Given the description of an element on the screen output the (x, y) to click on. 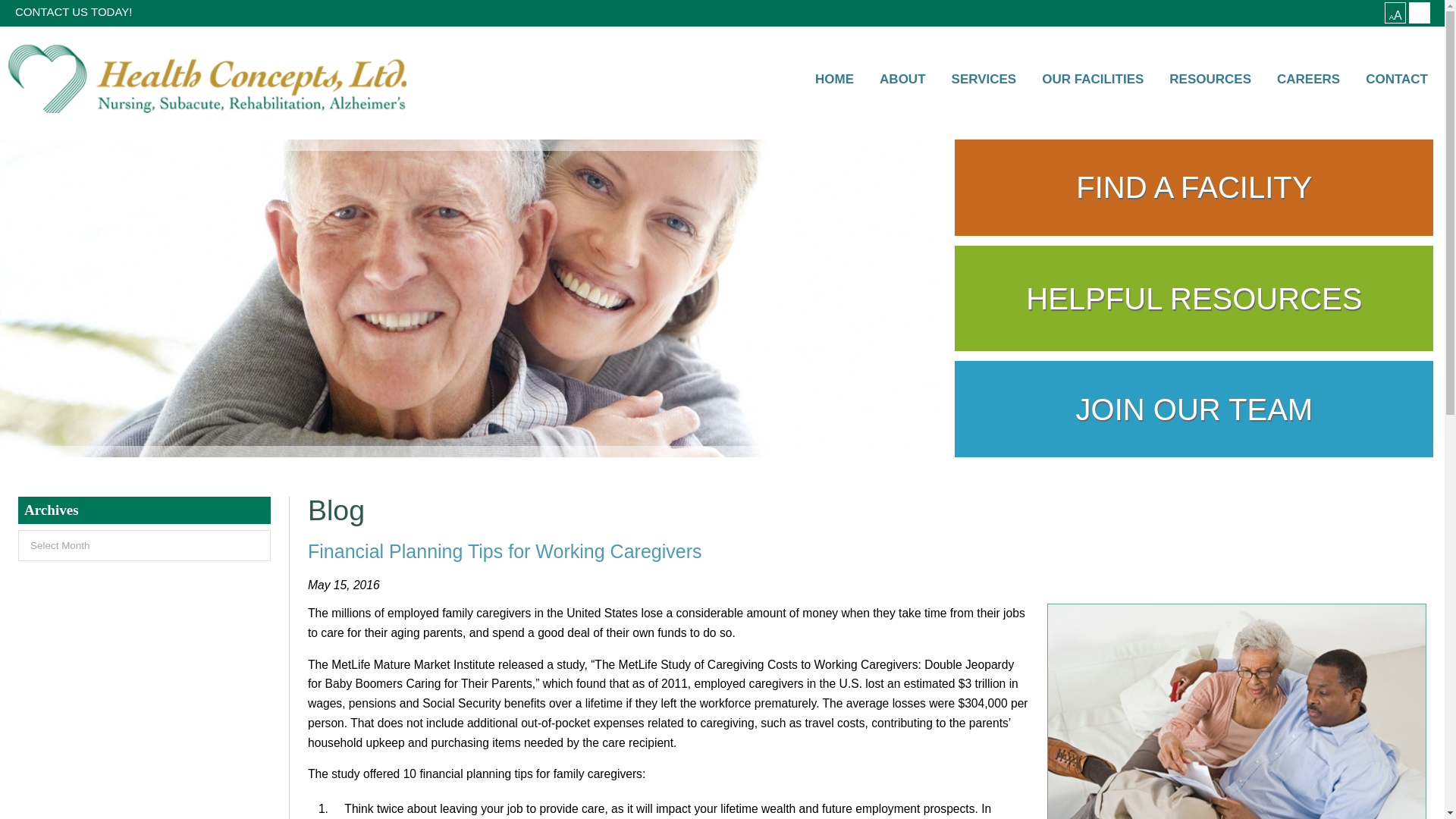
CONTACT (1396, 79)
CONTACT US TODAY! (73, 12)
ABOUT (901, 79)
RESOURCES (1209, 79)
High Contrast: White Background with Black Text (1419, 12)
SERVICES (984, 79)
HOME (834, 79)
OUR FACILITIES (1092, 79)
HELPFUL RESOURCES (1193, 298)
JOIN OUR TEAM (1193, 409)
